Given the description of an element on the screen output the (x, y) to click on. 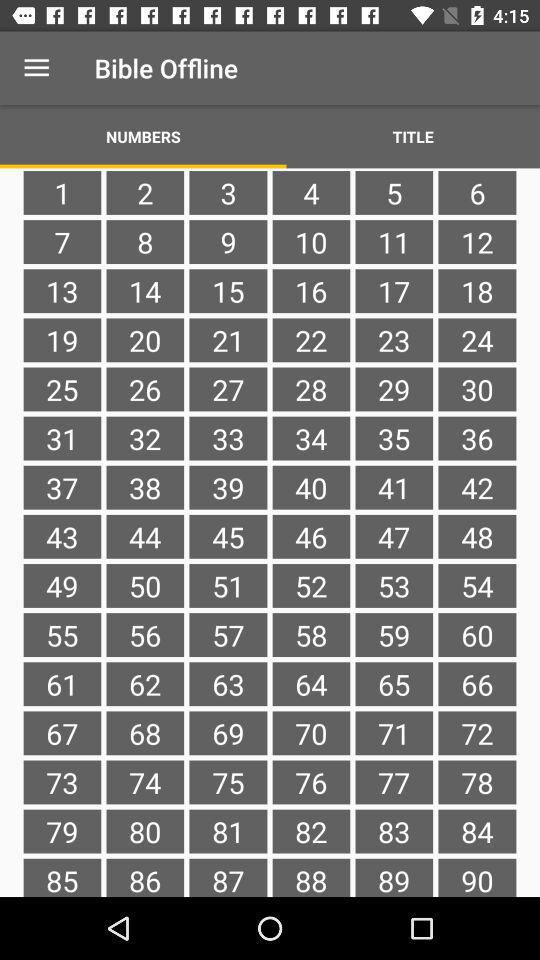
turn on item next to the 59 item (477, 684)
